Given the description of an element on the screen output the (x, y) to click on. 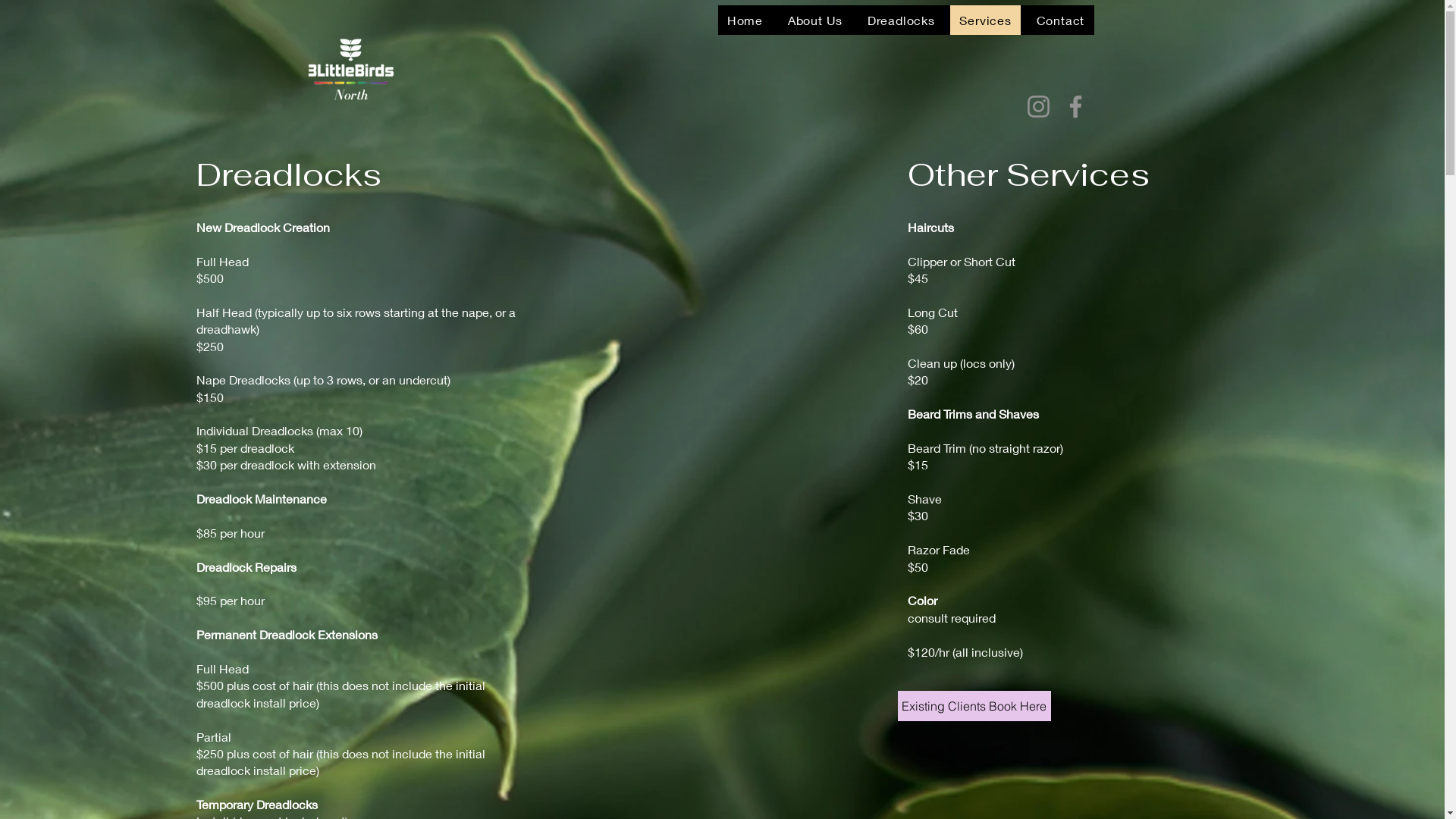
Services Element type: text (985, 19)
1679952830136.png Element type: hover (351, 71)
About Us Element type: text (814, 19)
Existing Clients Book Here Element type: text (974, 705)
Home Element type: text (744, 19)
Contact Element type: text (1059, 19)
